Given the description of an element on the screen output the (x, y) to click on. 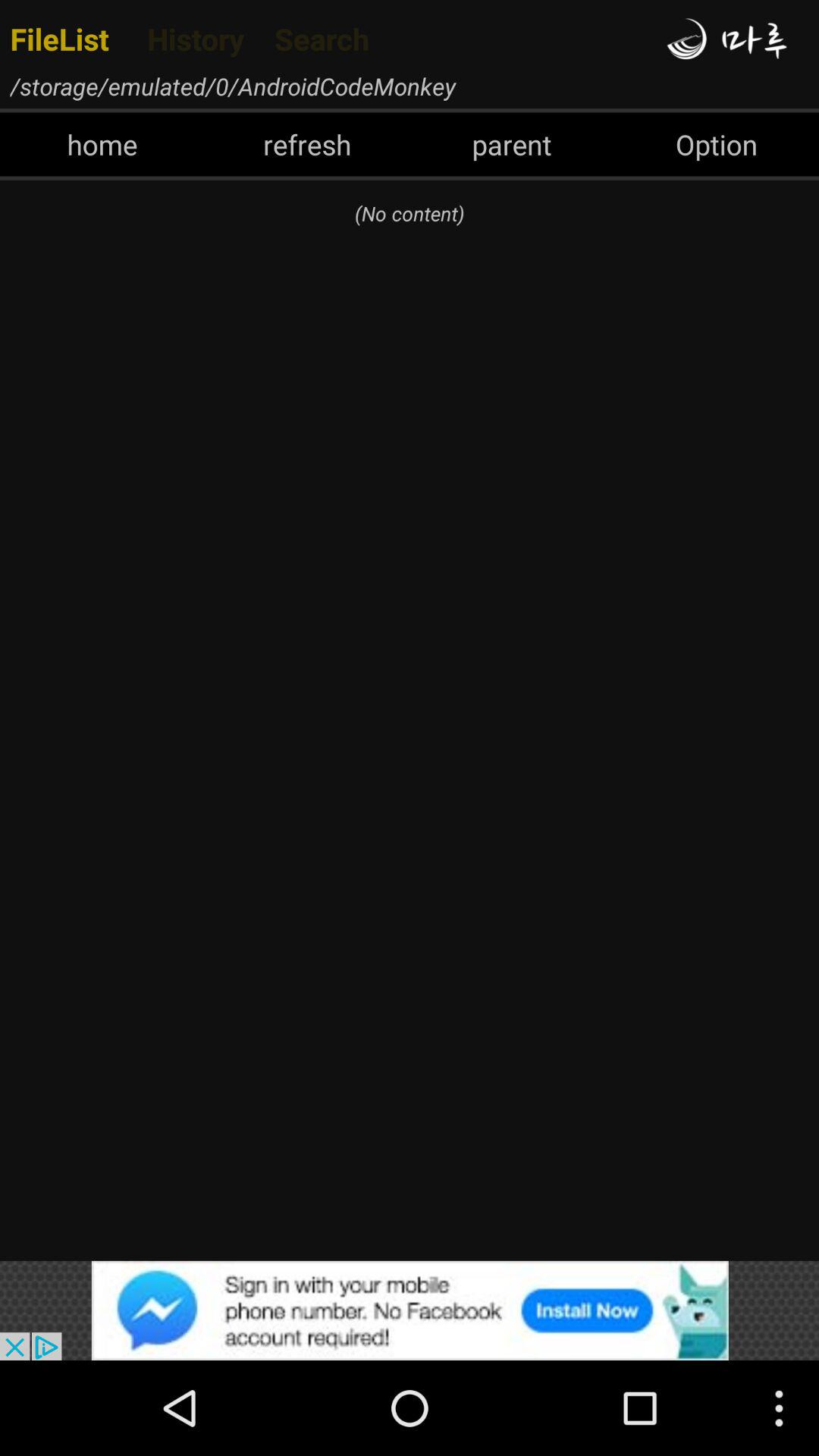
select advertisement (409, 1310)
